Given the description of an element on the screen output the (x, y) to click on. 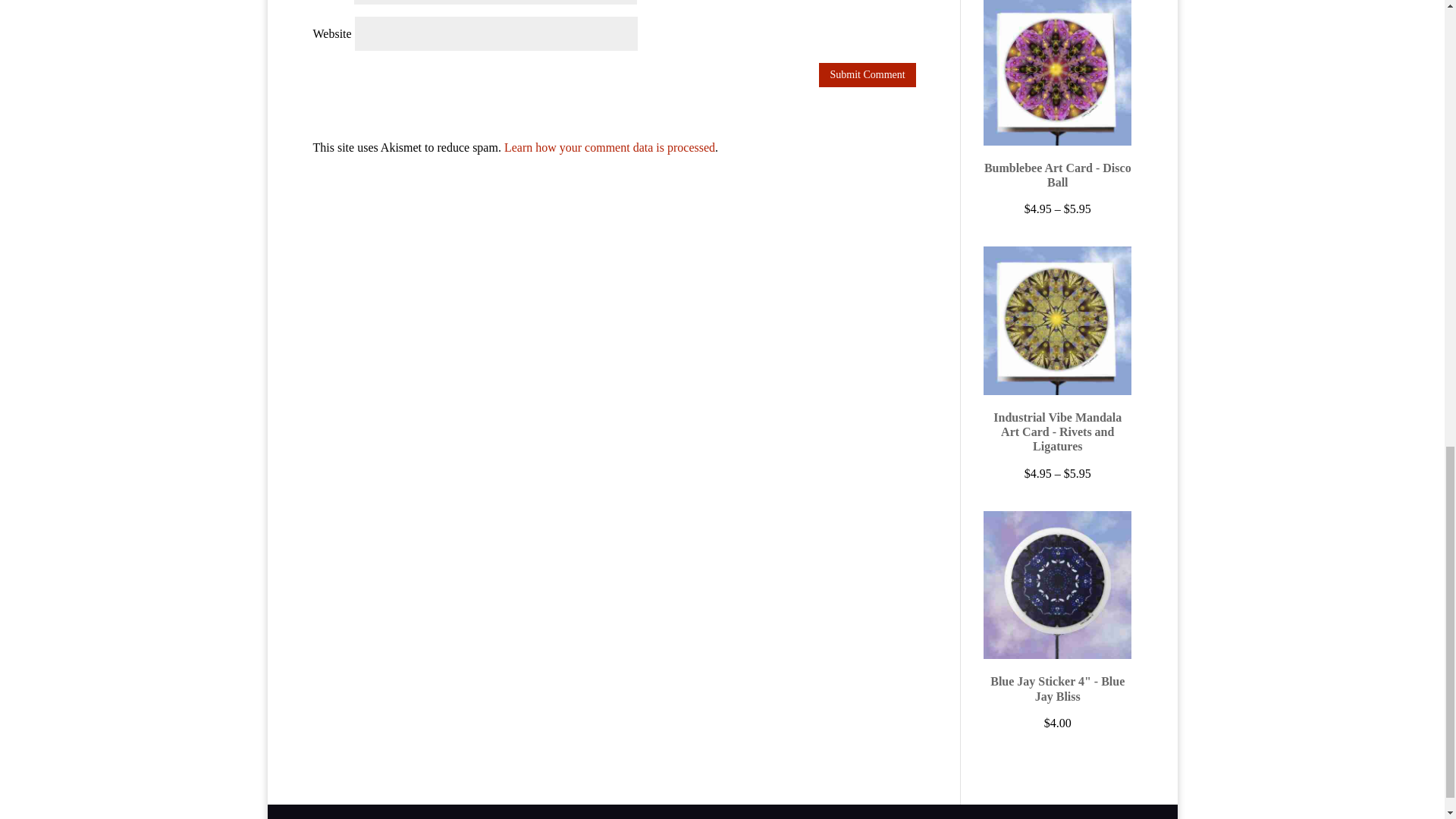
Submit Comment (866, 74)
Submit Comment (866, 74)
Learn how your comment data is processed (608, 146)
